Given the description of an element on the screen output the (x, y) to click on. 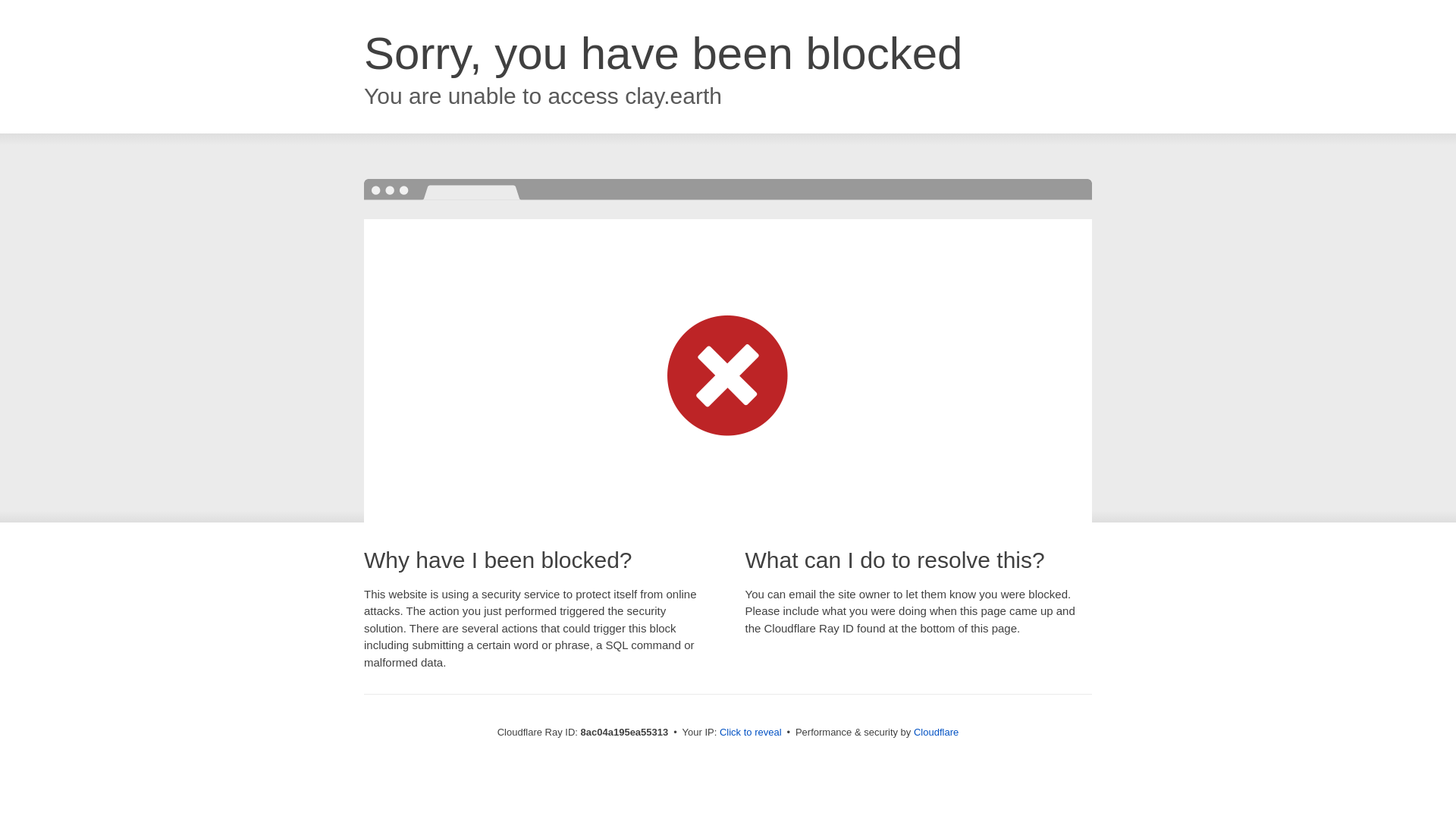
Click to reveal (750, 732)
Cloudflare (936, 731)
